Given the description of an element on the screen output the (x, y) to click on. 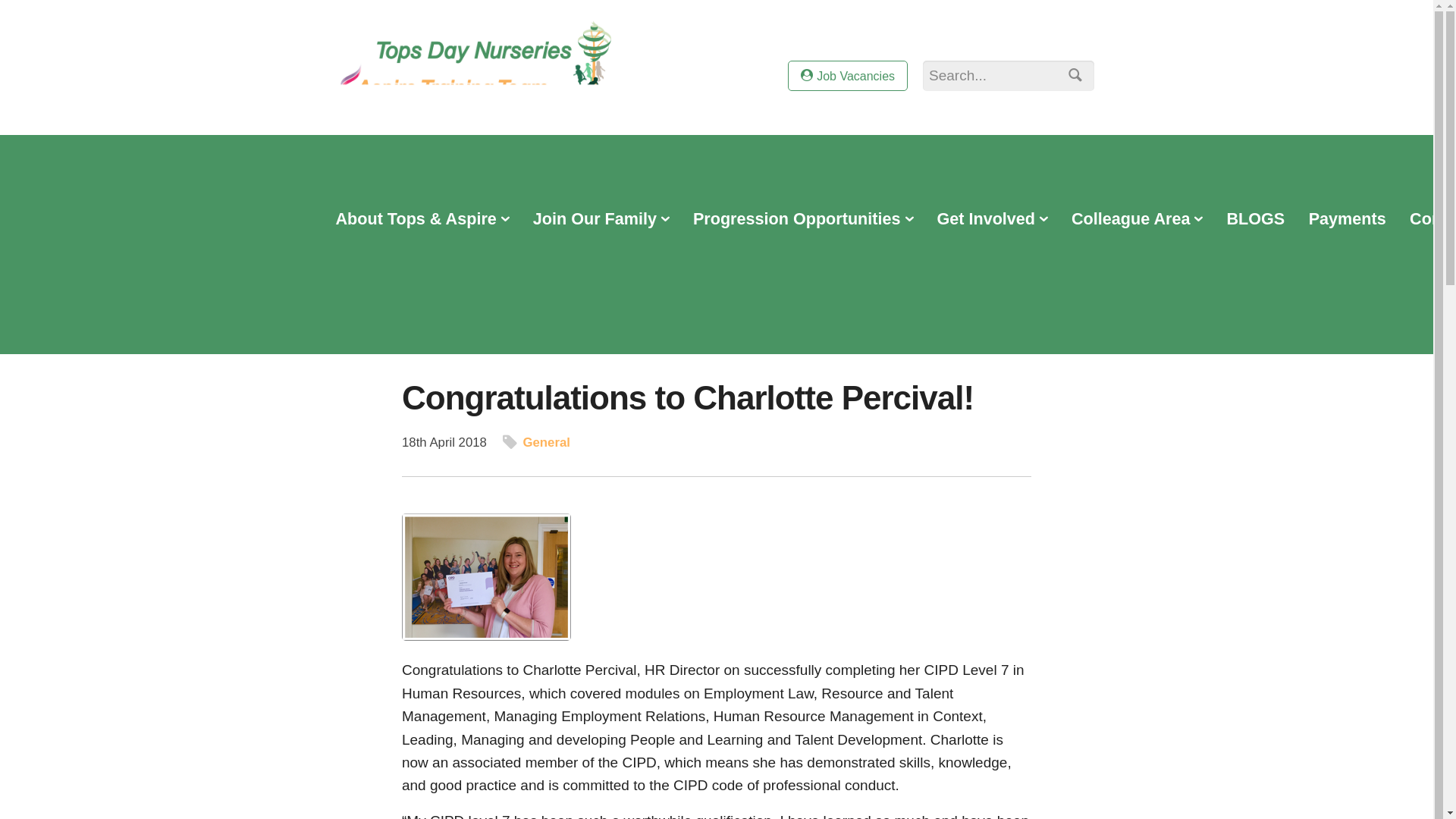
Get Involved (992, 219)
Payments (1347, 220)
Join Our Family (600, 219)
Search (1072, 77)
Colleague Area (1136, 219)
Search (1072, 77)
BLOGS (1255, 220)
Progression Opportunities (802, 219)
Job Vacancies (847, 75)
Search (1072, 77)
